Given the description of an element on the screen output the (x, y) to click on. 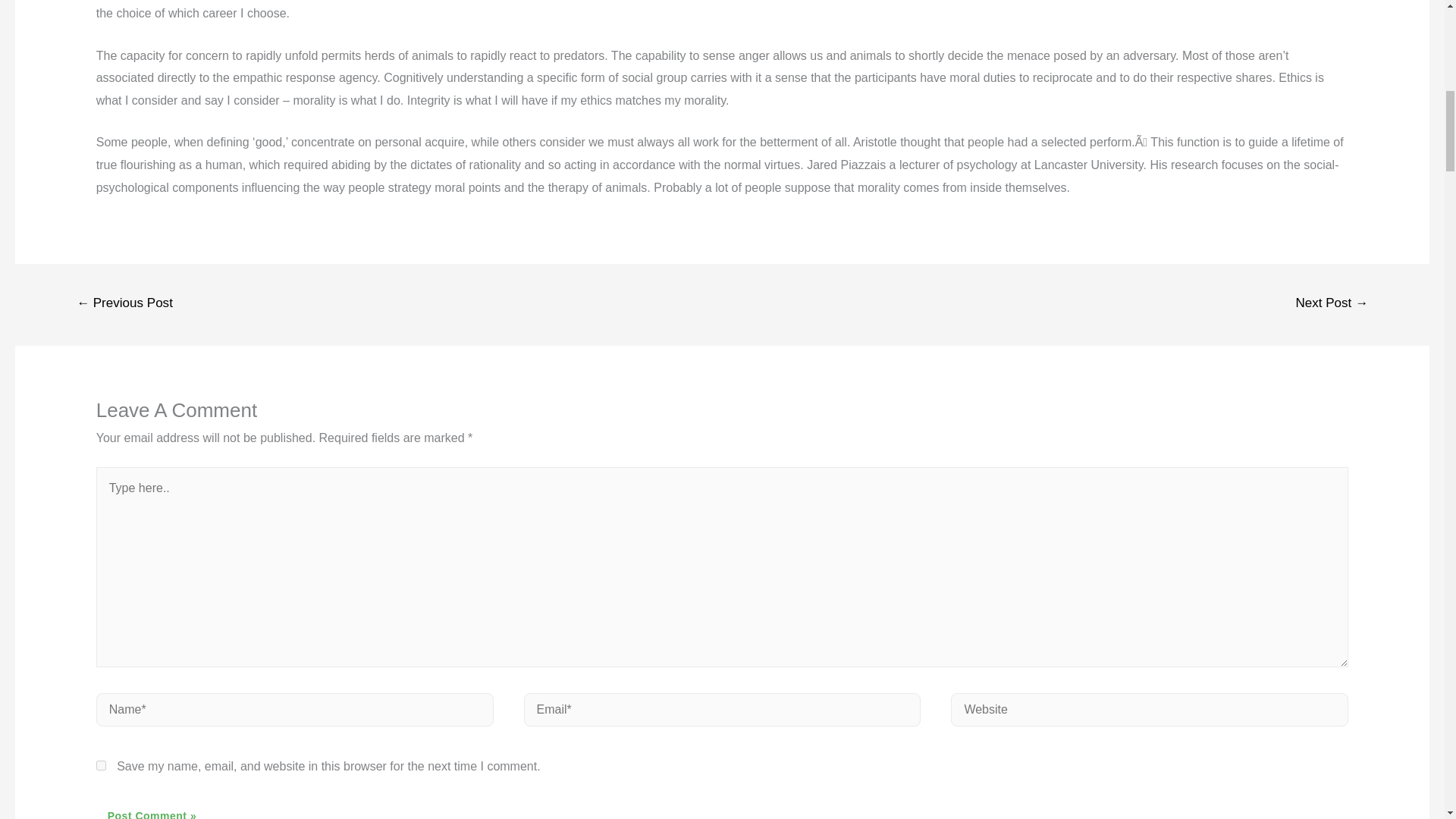
yes (101, 765)
